Given the description of an element on the screen output the (x, y) to click on. 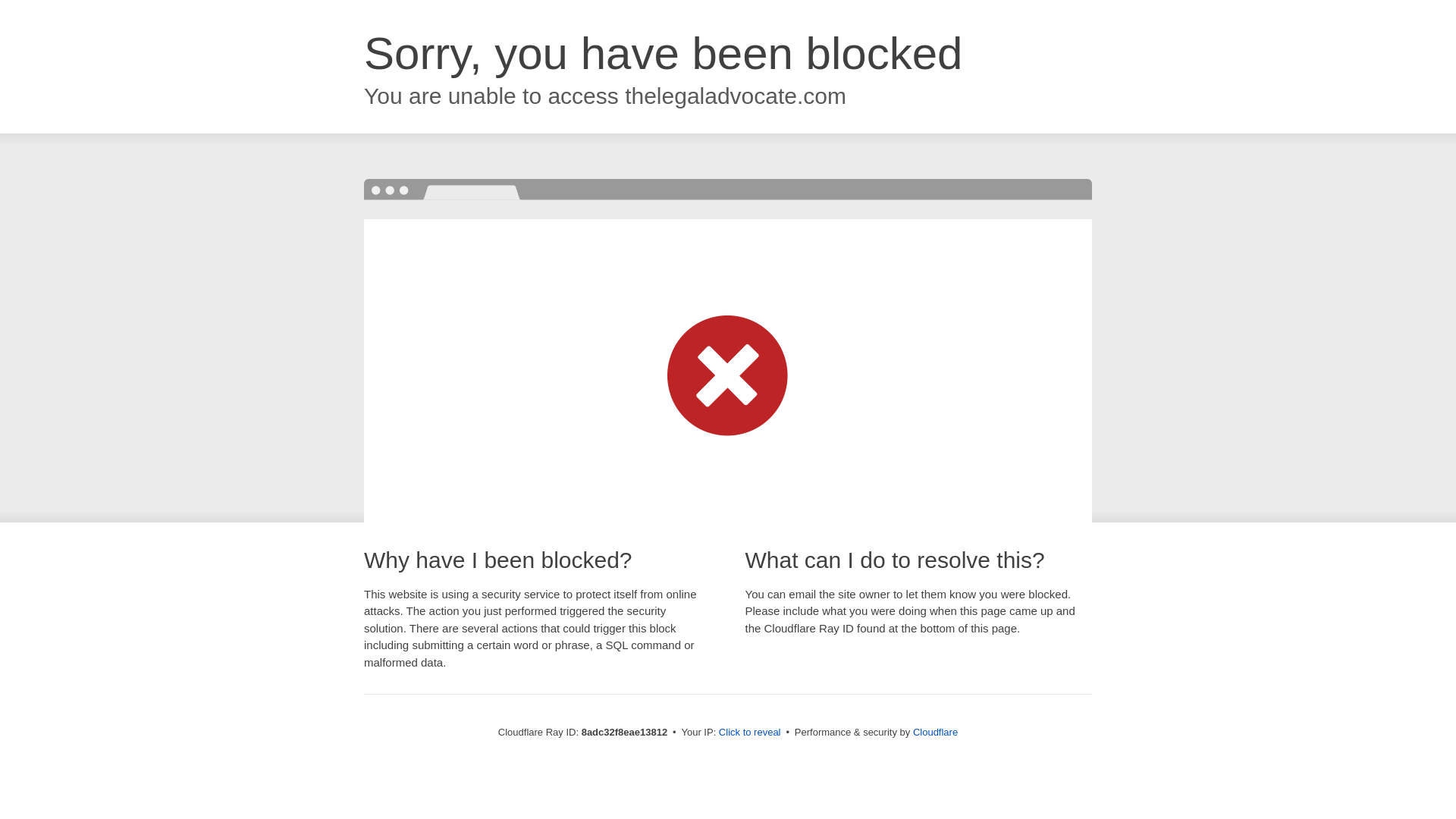
Cloudflare (935, 731)
Click to reveal (749, 732)
